Given the description of an element on the screen output the (x, y) to click on. 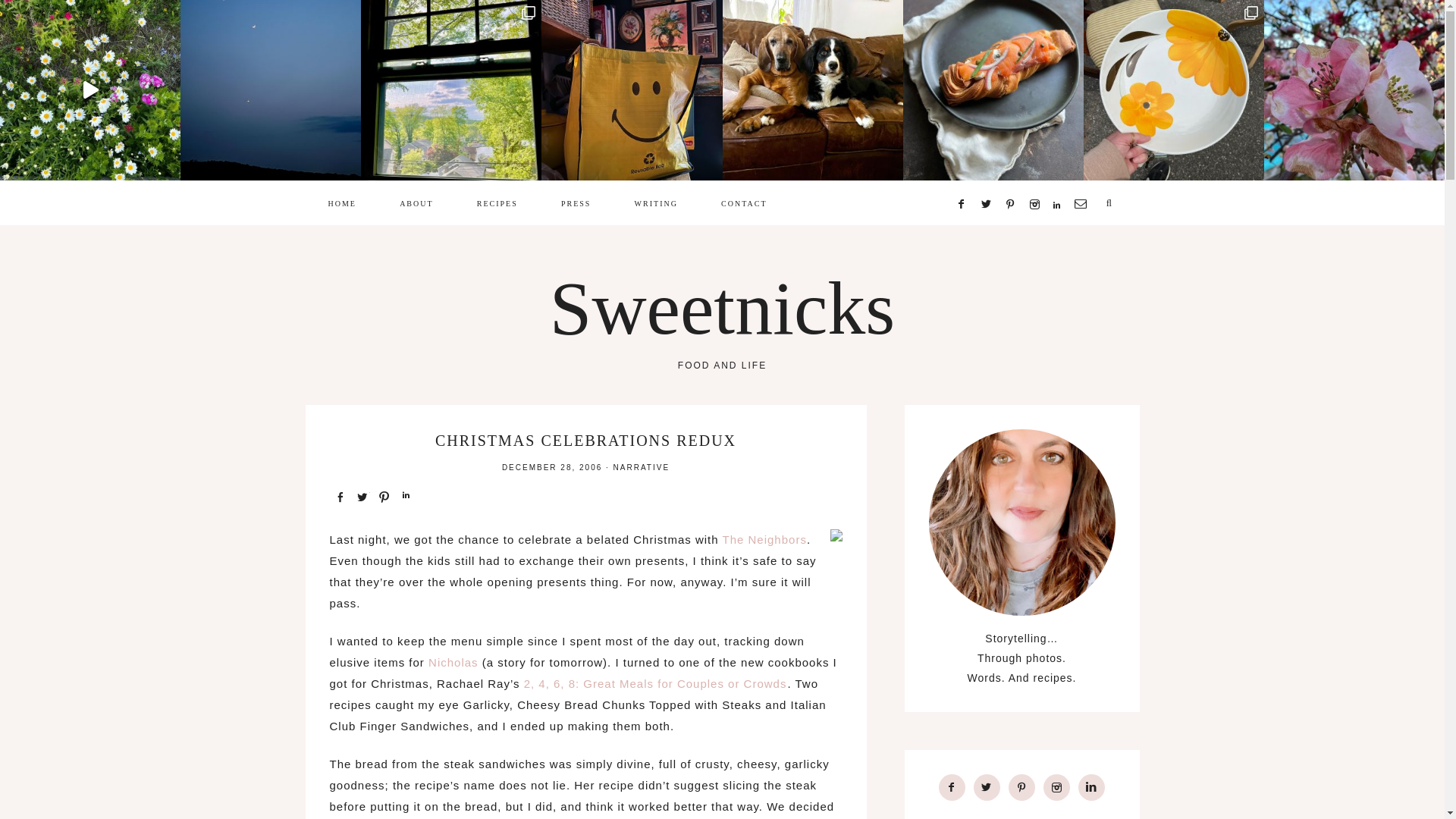
Share (338, 495)
Nicholas (453, 662)
CONTACT (743, 201)
Pinterest (1010, 181)
NARRATIVE (640, 467)
ABOUT (416, 201)
Twitter (986, 181)
2, 4, 6, 8: Great Meals for Couples or Crowds (655, 683)
Facebook (962, 181)
Email Me (1080, 181)
